Given the description of an element on the screen output the (x, y) to click on. 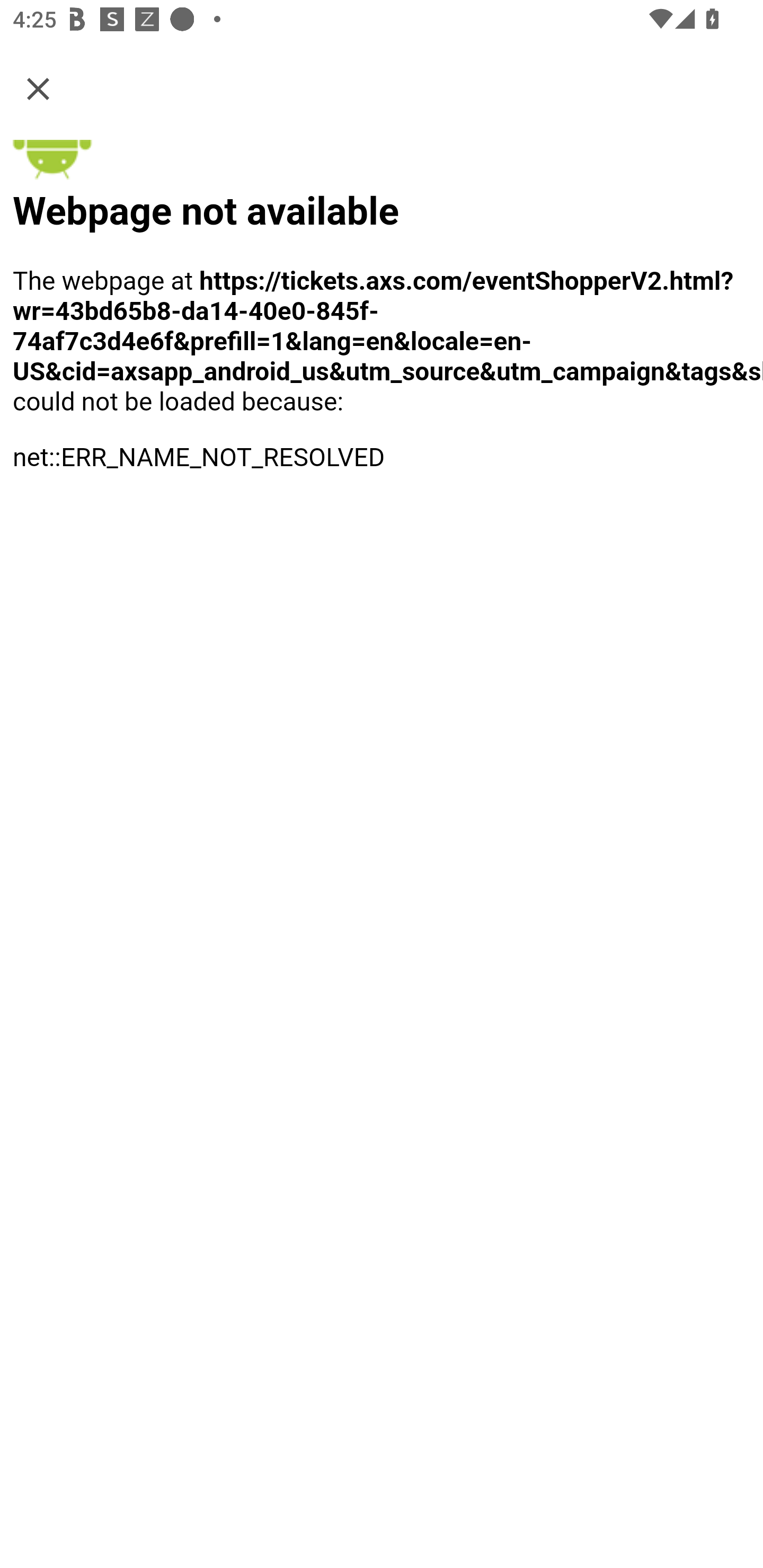
Close (38, 88)
